Given the description of an element on the screen output the (x, y) to click on. 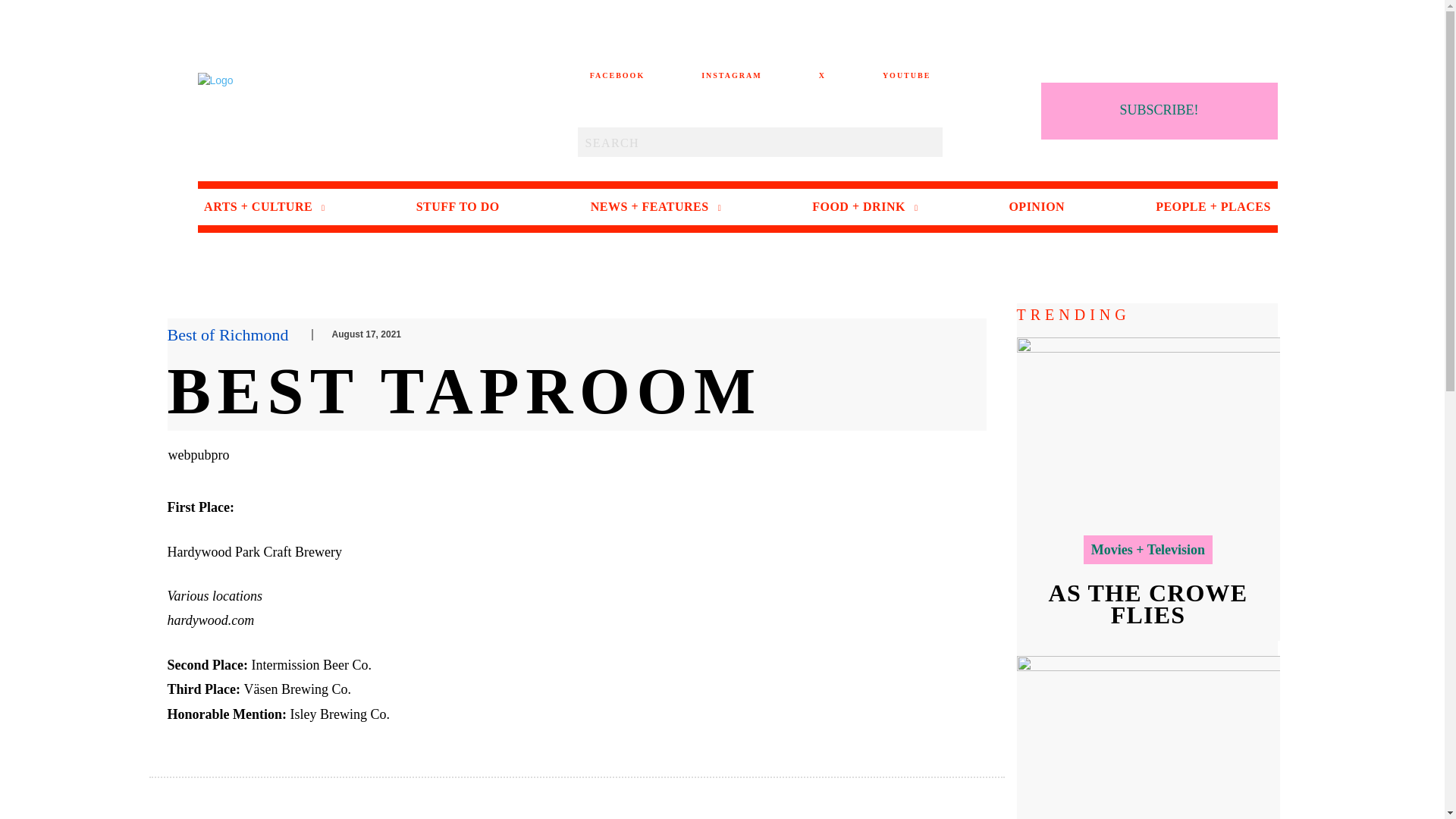
SUBSCRIBE! (1158, 109)
